Given the description of an element on the screen output the (x, y) to click on. 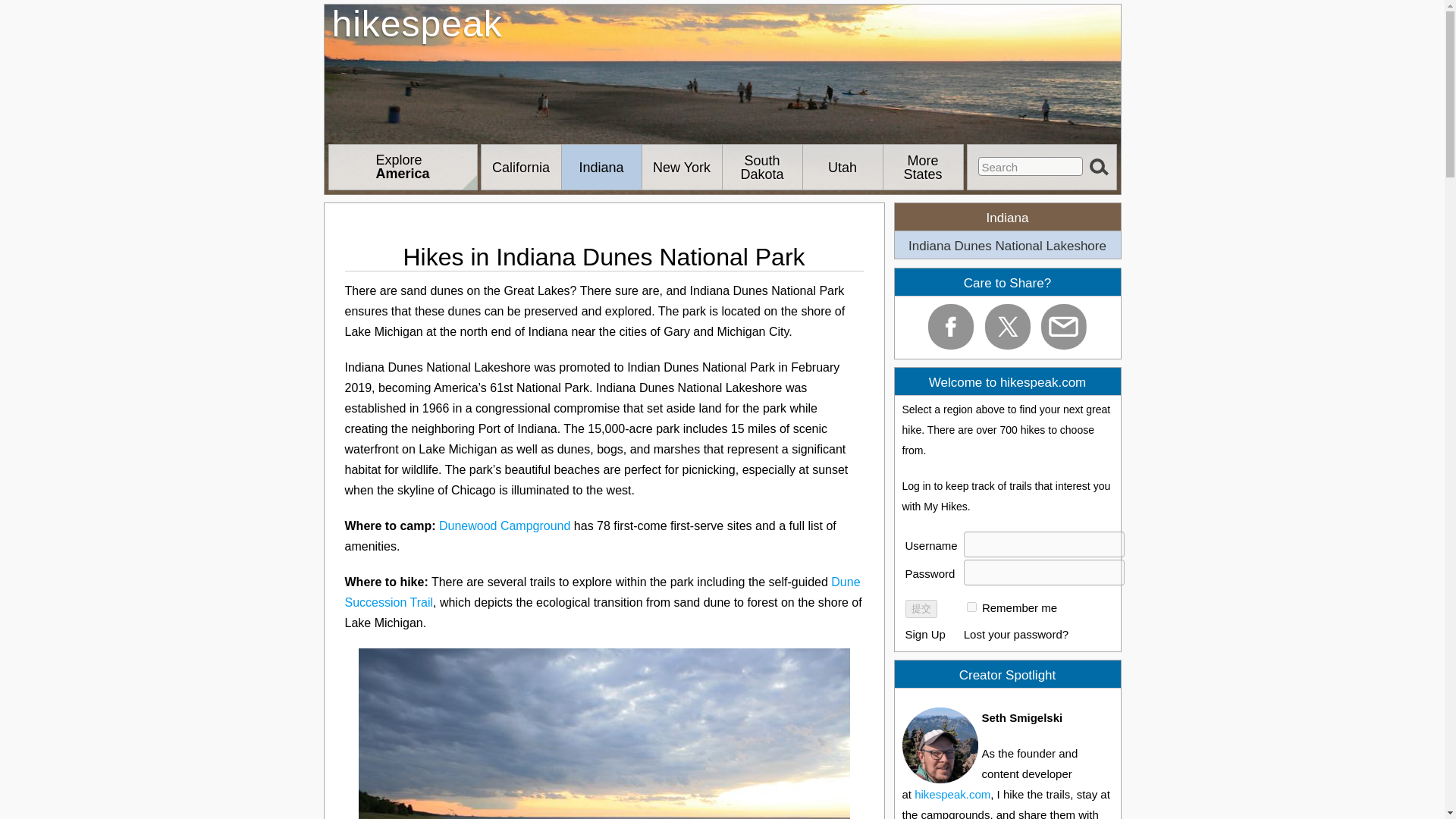
Hikes in New York (681, 166)
Hikes in California (403, 166)
forever (520, 166)
Utah (971, 606)
South Dakota (842, 166)
More States (762, 166)
Hikes in the United States of America (922, 166)
Search (403, 166)
hikespeak (1030, 166)
